Given the description of an element on the screen output the (x, y) to click on. 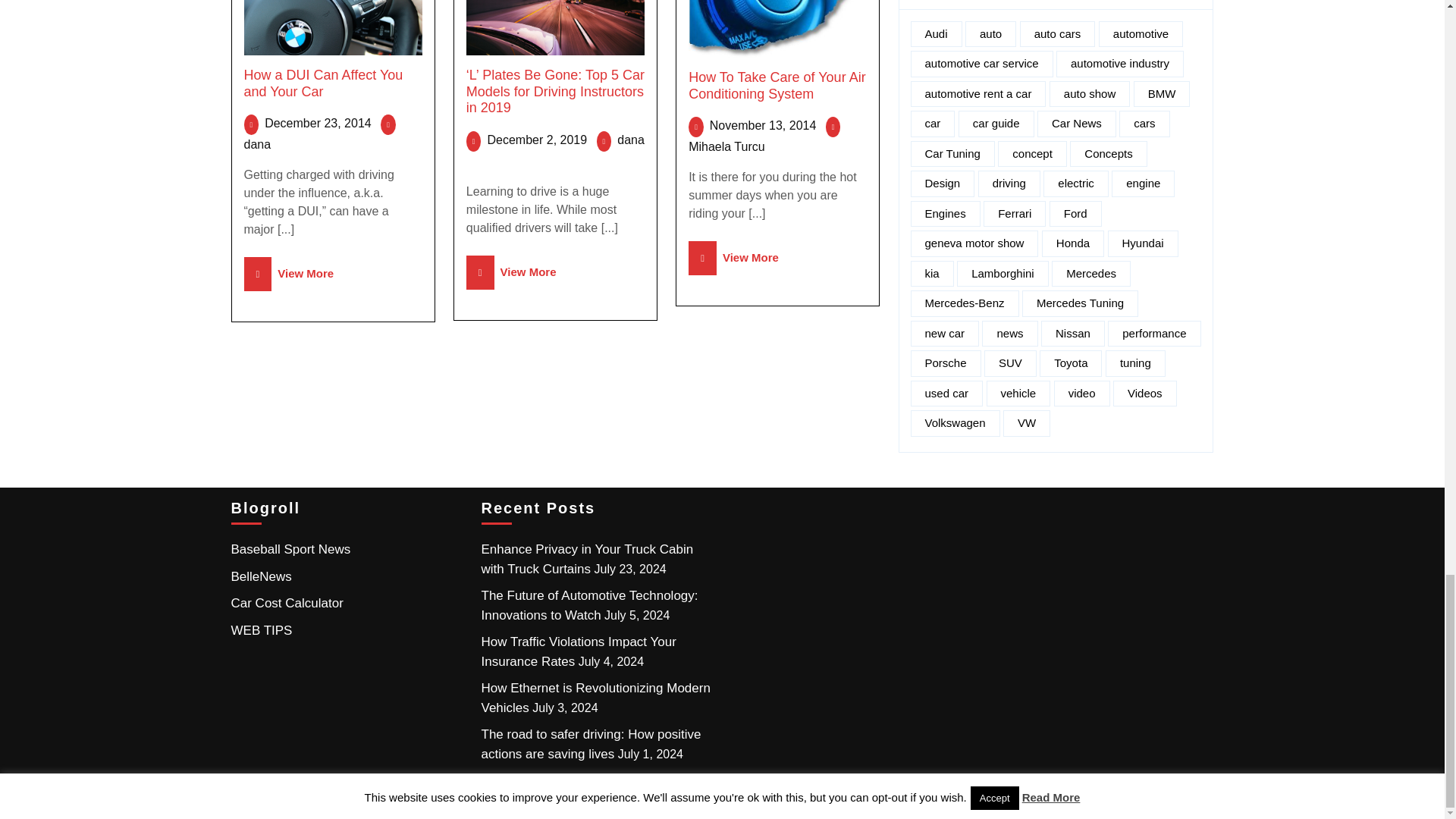
View More (289, 273)
December 23, 2014 (317, 123)
dana (257, 144)
WEB TIPS (261, 630)
Motoring Costs Calculator (286, 603)
Belle News (260, 576)
Baseball Sport News (290, 549)
How a DUI Can Affect You and Your Car (323, 83)
